Given the description of an element on the screen output the (x, y) to click on. 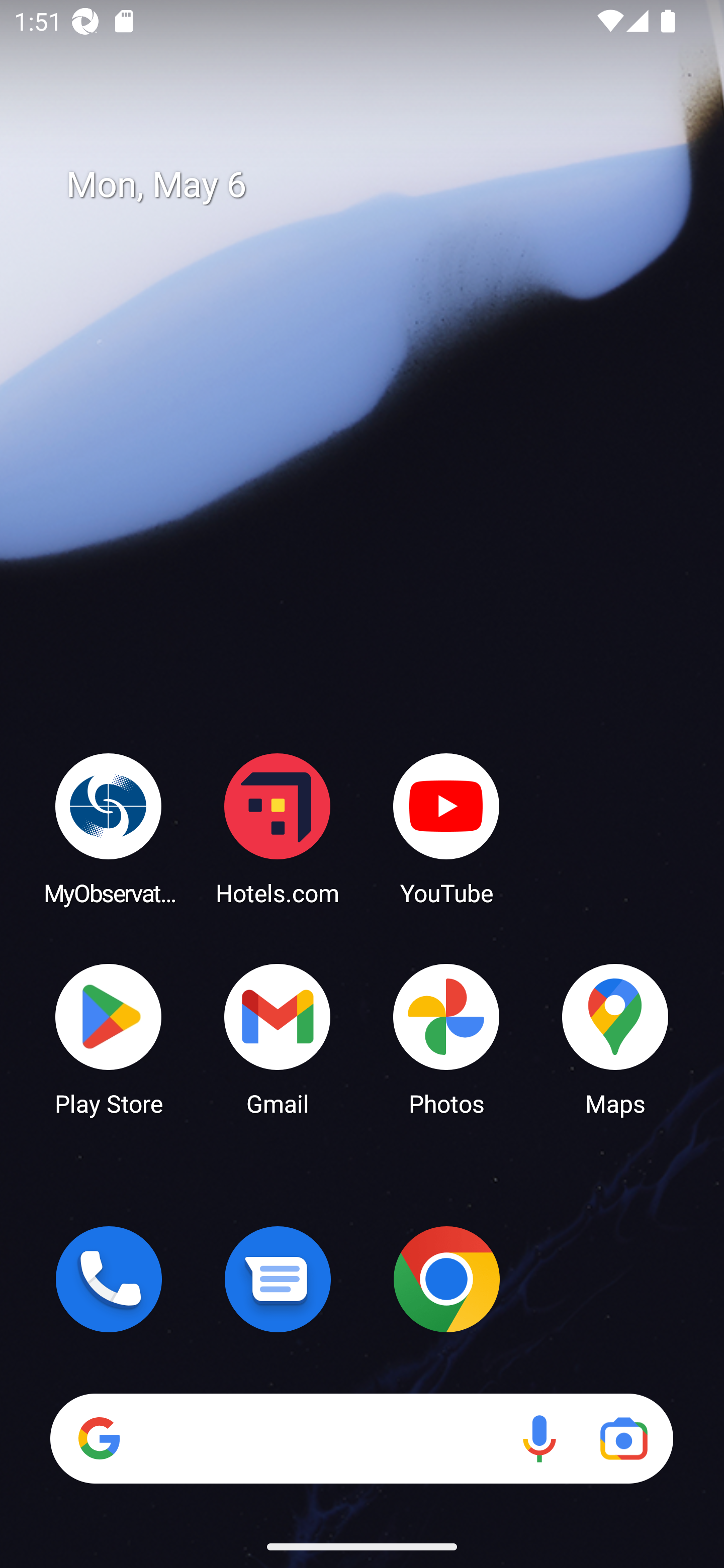
Mon, May 6 (375, 184)
MyObservatory (108, 828)
Hotels.com (277, 828)
YouTube (445, 828)
Play Store (108, 1038)
Gmail (277, 1038)
Photos (445, 1038)
Maps (615, 1038)
Phone (108, 1279)
Messages (277, 1279)
Chrome (446, 1279)
Search Voice search Google Lens (361, 1438)
Voice search (539, 1438)
Google Lens (623, 1438)
